Given the description of an element on the screen output the (x, y) to click on. 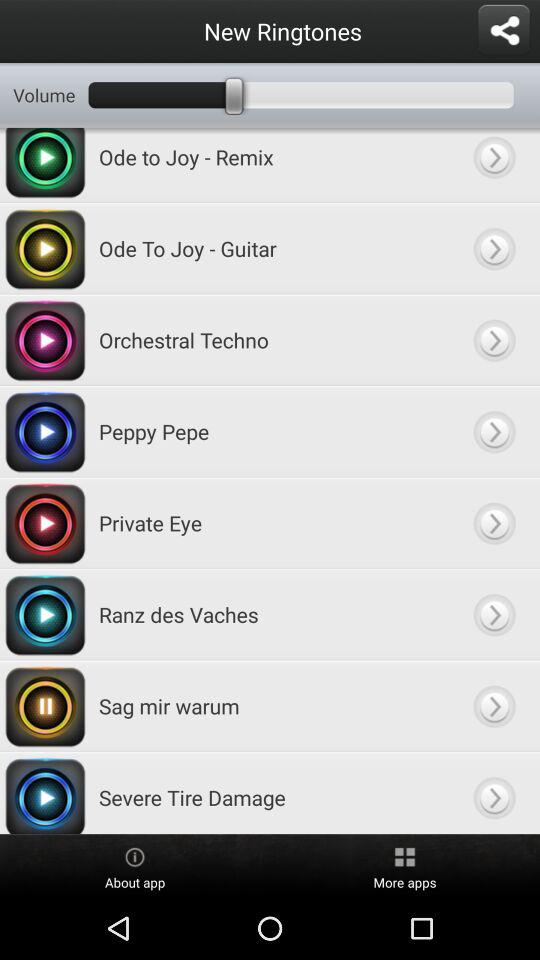
for ward (494, 614)
